Given the description of an element on the screen output the (x, y) to click on. 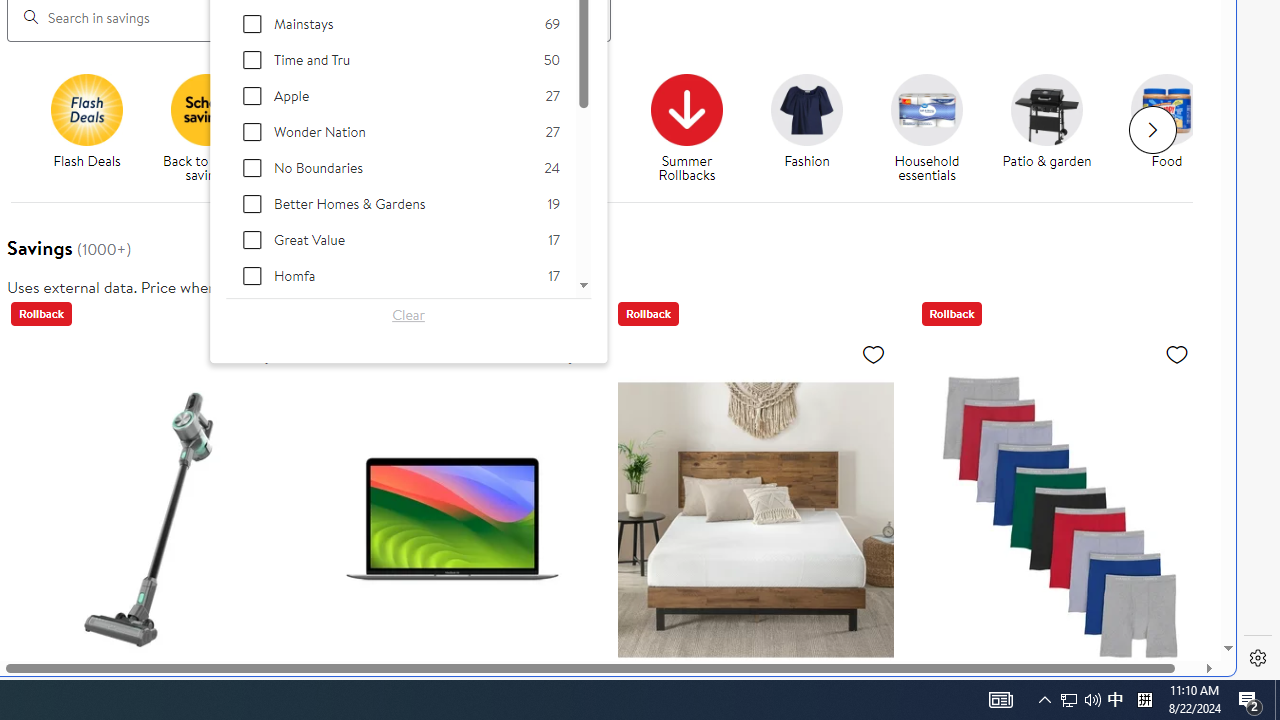
Patio & garden Patio & garden (1046, 122)
$20 & under (454, 128)
Back to School savings Back to school savings (206, 128)
Summer Rollbacks Summer Rollbacks (686, 128)
Household essentials Household essentials (927, 128)
$20 and under (446, 109)
Flash deals Flash Deals (86, 122)
Patio & garden (1046, 109)
Food (1167, 109)
legal information (353, 286)
Household essentials (926, 109)
